Given the description of an element on the screen output the (x, y) to click on. 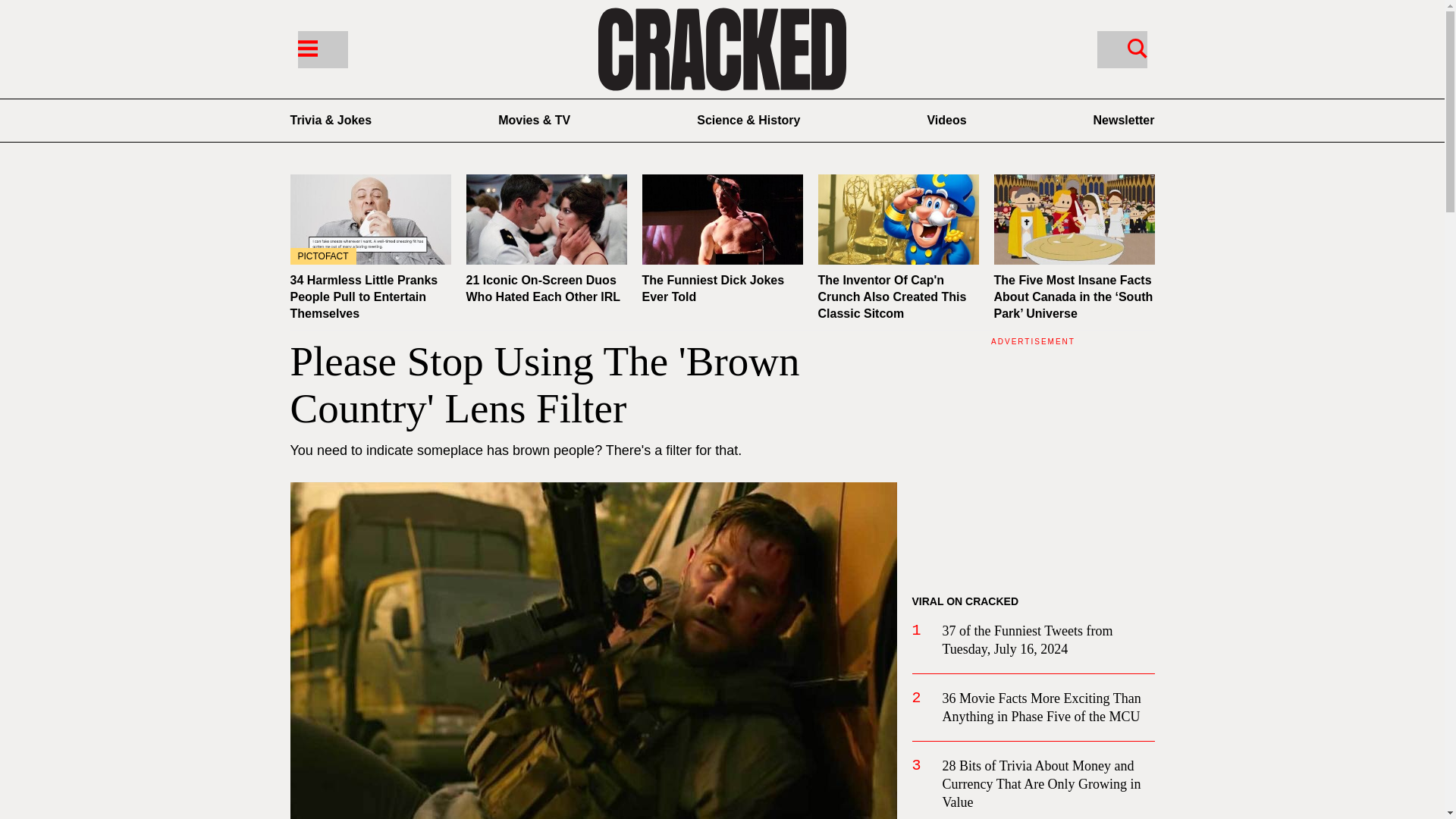
Search (1121, 48)
Videos (946, 119)
21 Iconic On-Screen Duos Who Hated Each Other IRL (545, 219)
The Funniest Dick Jokes Ever Told (713, 288)
Search (1136, 47)
Videos (946, 119)
PICTOFACT (369, 219)
Cracked Newsletter (1123, 119)
Menu (307, 47)
Menu (322, 48)
Newsletter (1123, 119)
21 Iconic On-Screen Duos Who Hated Each Other IRL (542, 288)
